Given the description of an element on the screen output the (x, y) to click on. 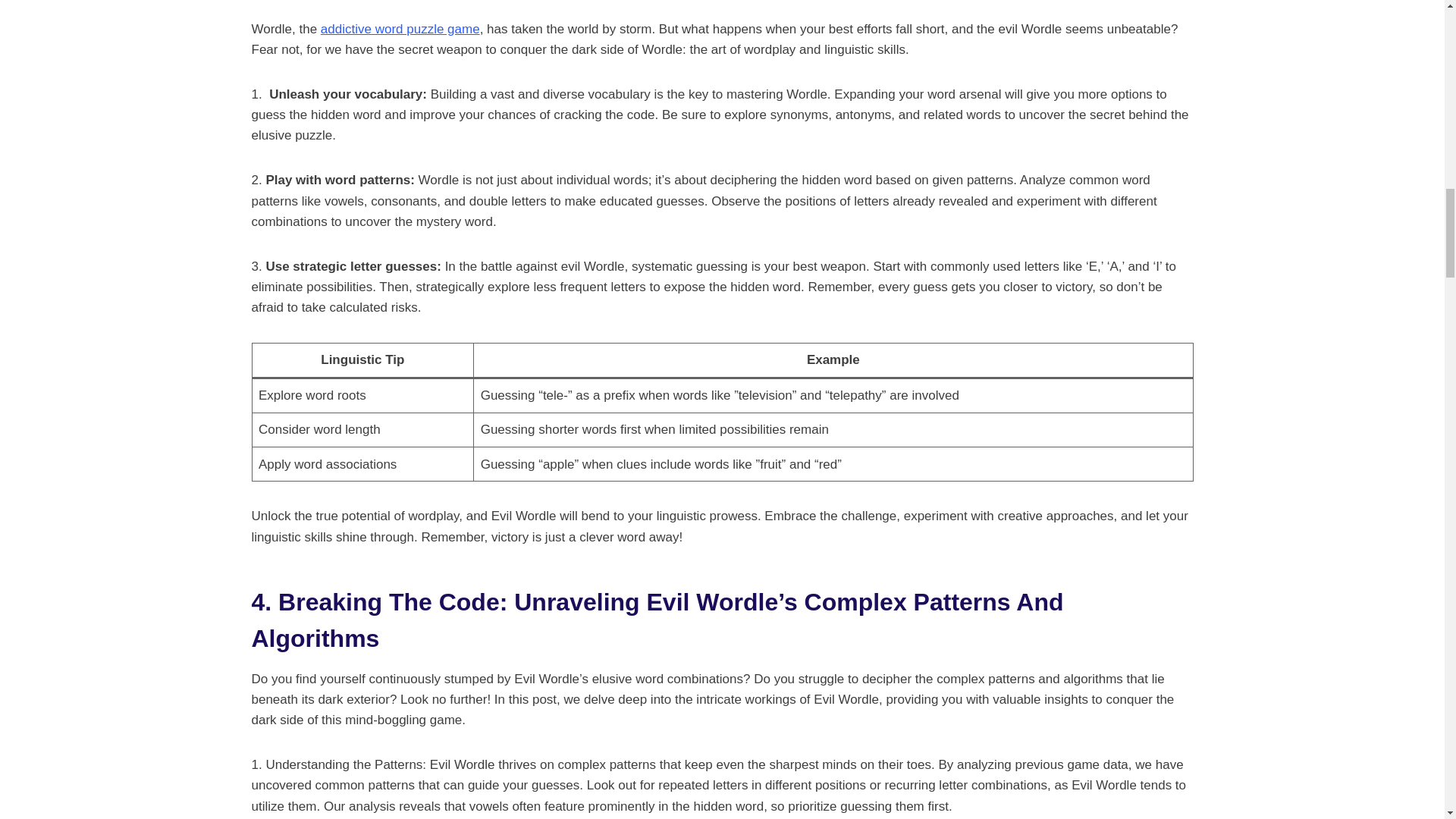
Birdle Wordle Symphony: Singing the Song of Wordle (400, 28)
